Given the description of an element on the screen output the (x, y) to click on. 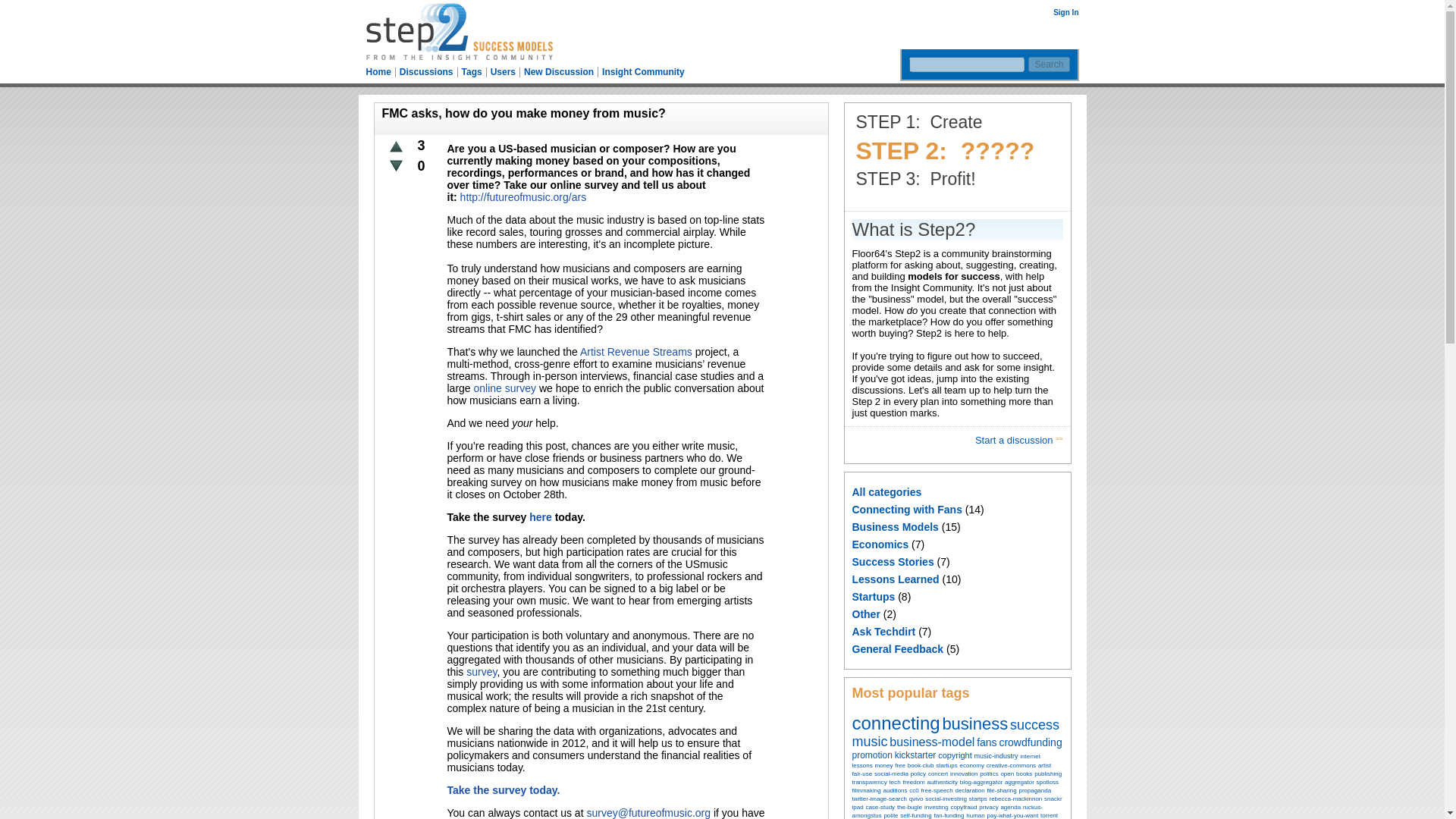
Other (865, 613)
fans (985, 741)
Search (1047, 64)
free (900, 764)
money (883, 764)
Home (377, 71)
copyright (954, 755)
creative-commons (1011, 764)
Click to vote up (396, 146)
Sign In (1065, 12)
